Given the description of an element on the screen output the (x, y) to click on. 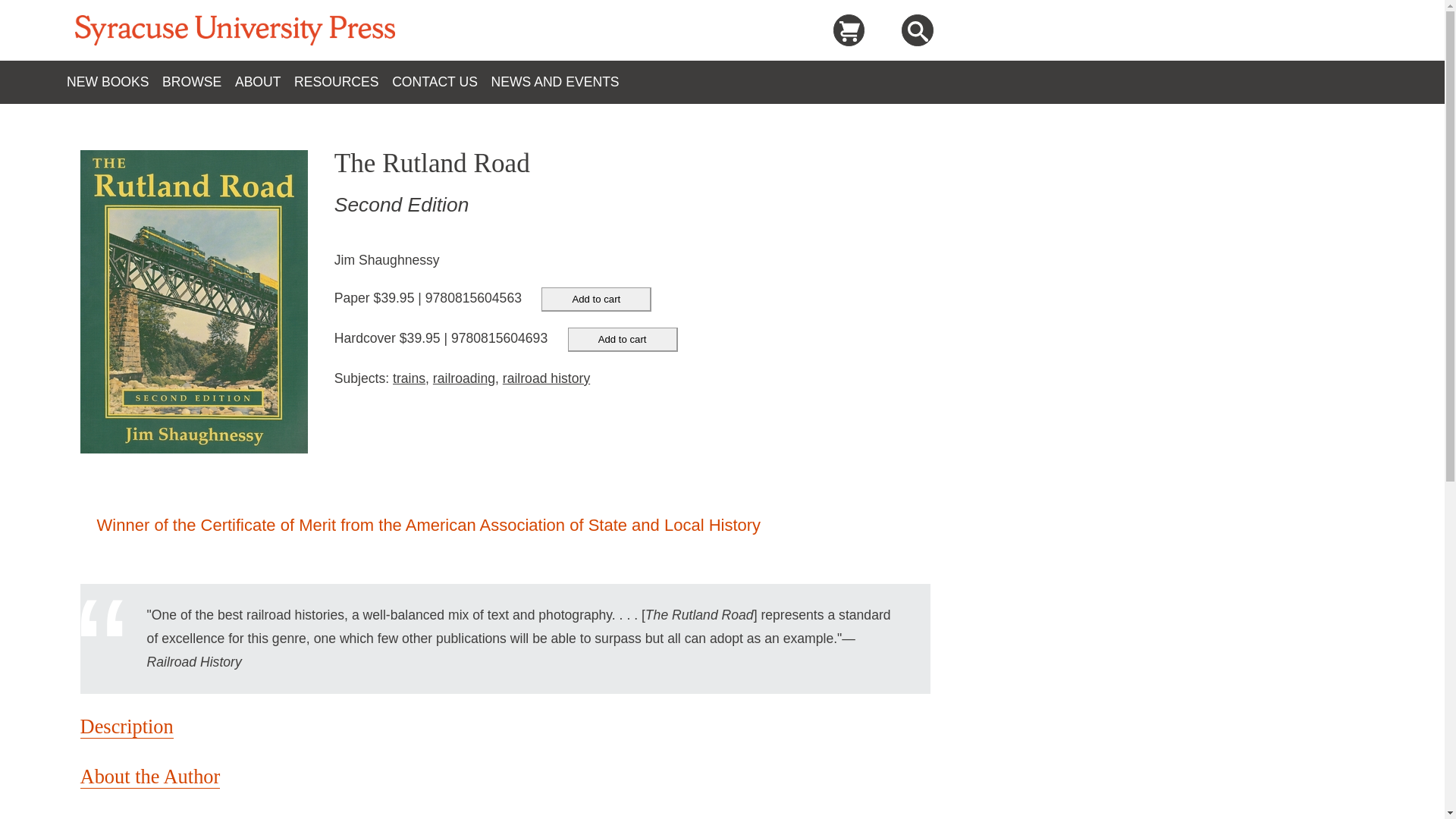
open cartGo to cart (848, 29)
CONTACT US (440, 82)
About the Author (150, 776)
trains (409, 378)
site searchSearch the site (917, 29)
railroad history (545, 378)
site searchSearch the site (917, 31)
railroading (463, 378)
RESOURCES (342, 82)
NEWS AND EVENTS (560, 82)
